Given the description of an element on the screen output the (x, y) to click on. 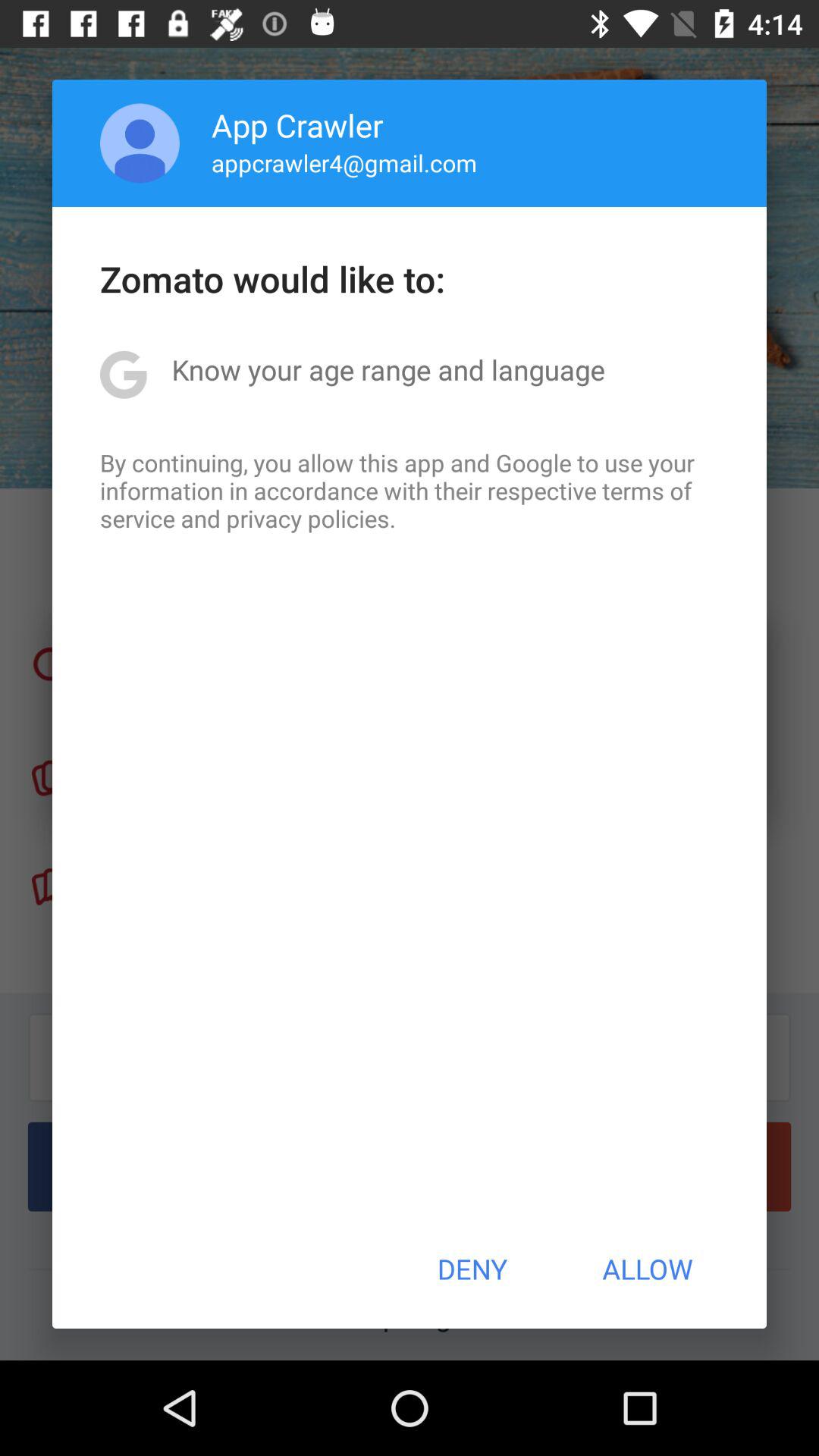
choose appcrawler4@gmail.com item (344, 162)
